Given the description of an element on the screen output the (x, y) to click on. 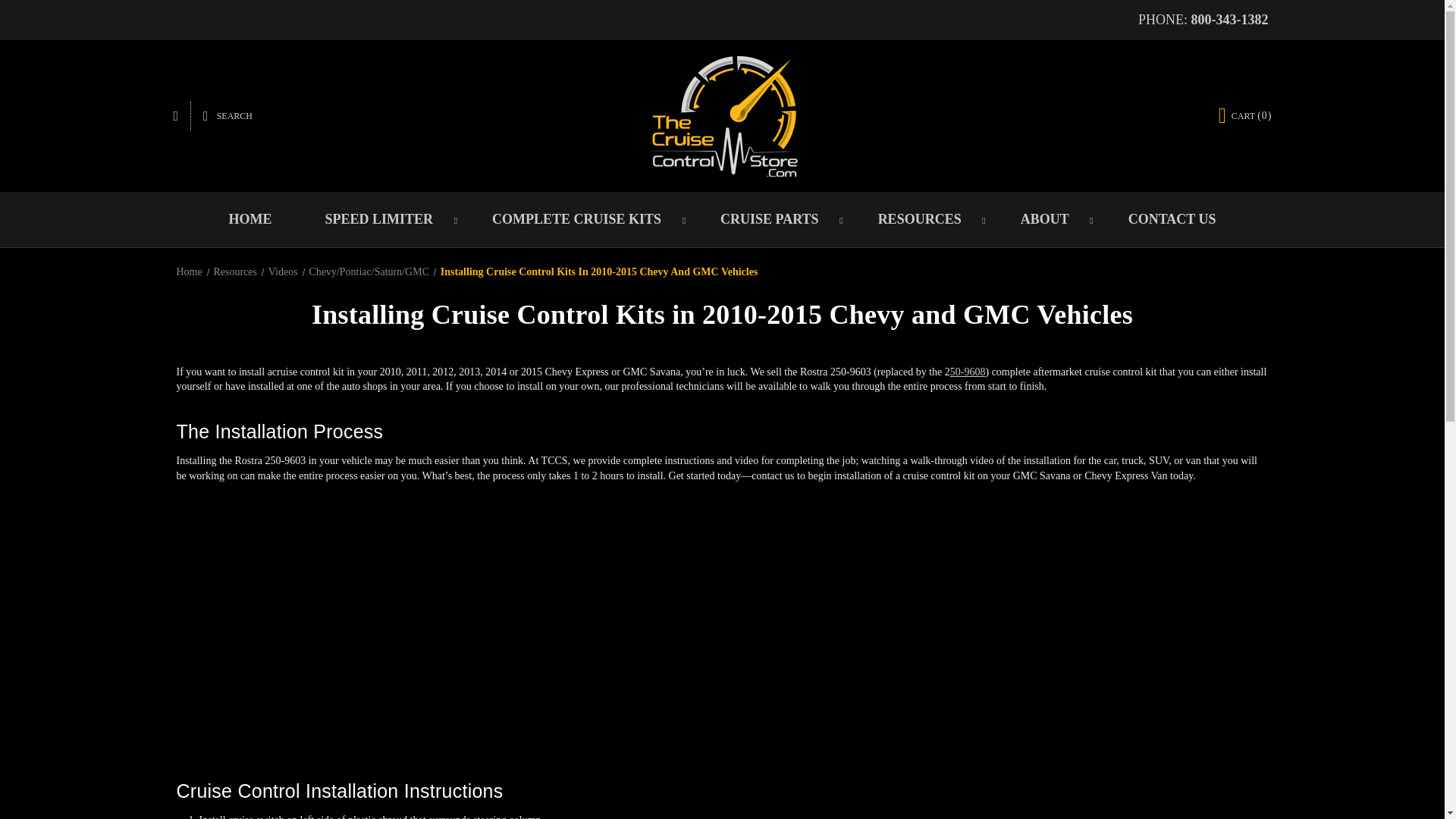
COMPLETE CRUISE KITS (579, 219)
CART 0 (1245, 115)
SPEED LIMITER (381, 219)
800-343-1382 (1229, 19)
SEARCH (227, 115)
The Cruise Control Store (721, 115)
HOME (250, 219)
